Given the description of an element on the screen output the (x, y) to click on. 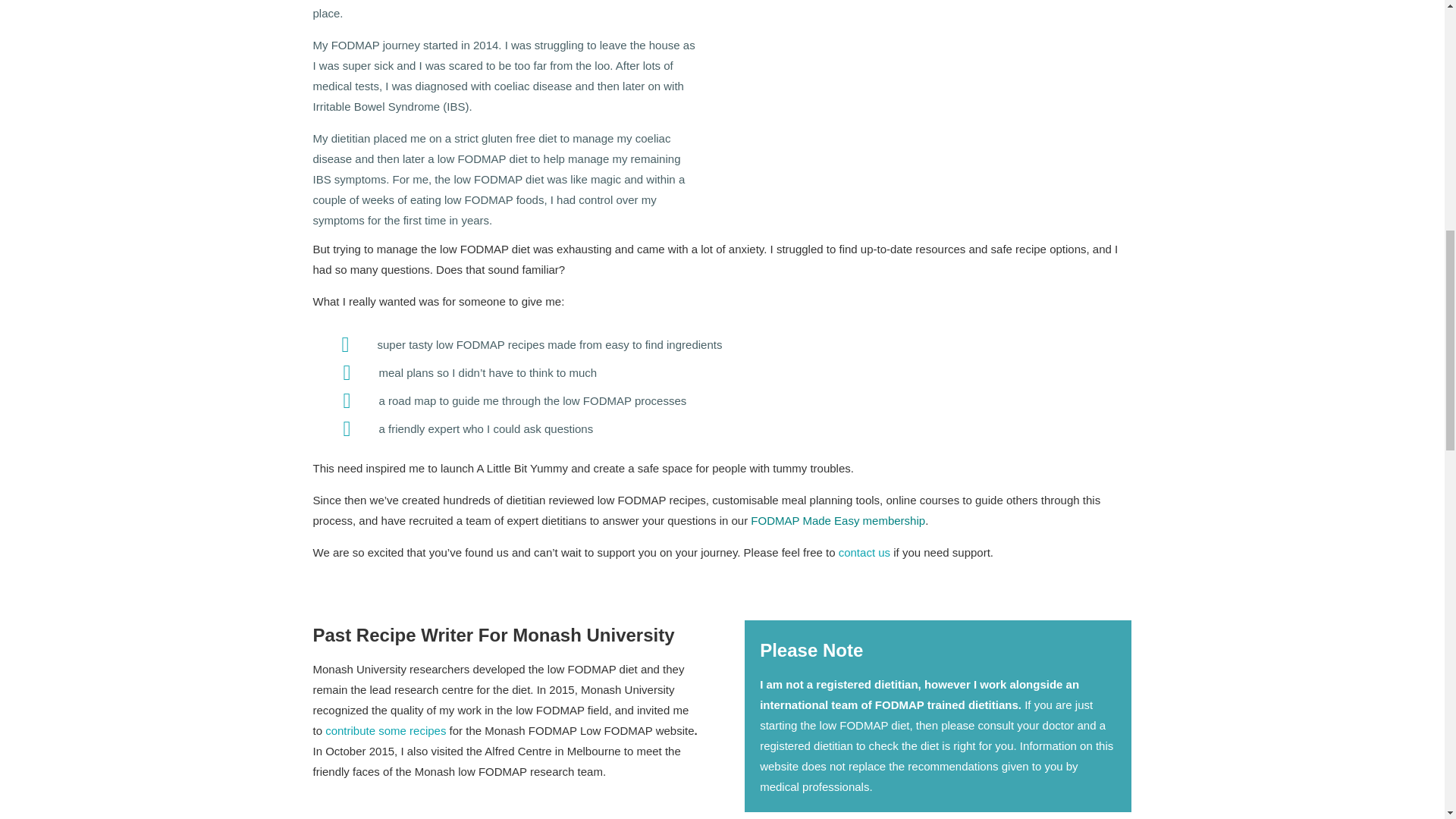
contribute some recipes (384, 733)
contact us (863, 556)
FODMAP Made Easy membership (837, 524)
